Given the description of an element on the screen output the (x, y) to click on. 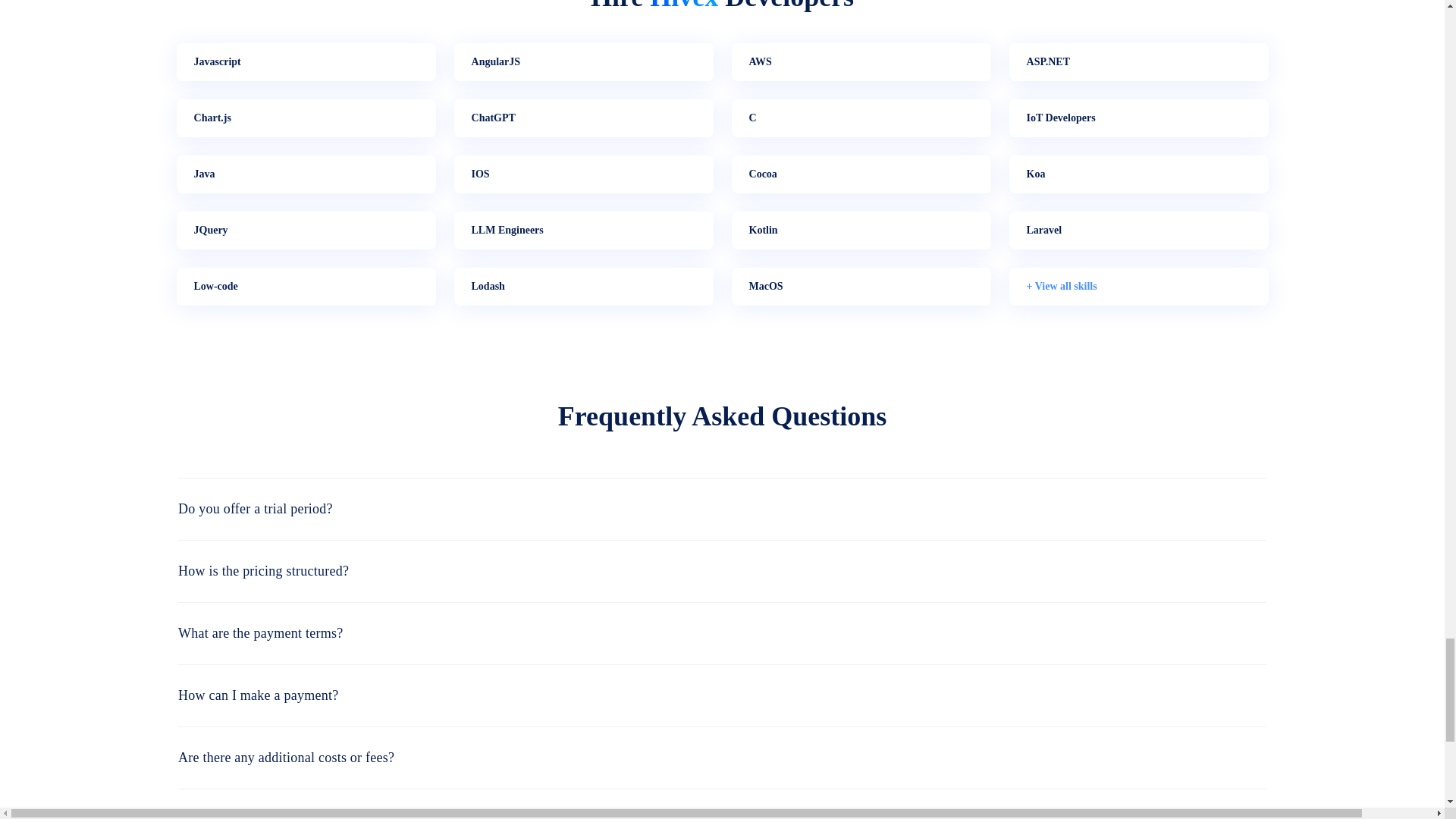
Java (305, 174)
iOS (582, 174)
AWS (860, 62)
AngularJS (582, 62)
IoT Developers (1138, 118)
ChatGPT (582, 118)
C (860, 118)
Javascript (305, 62)
Chart.js (305, 118)
ASP.NET (1138, 62)
